Given the description of an element on the screen output the (x, y) to click on. 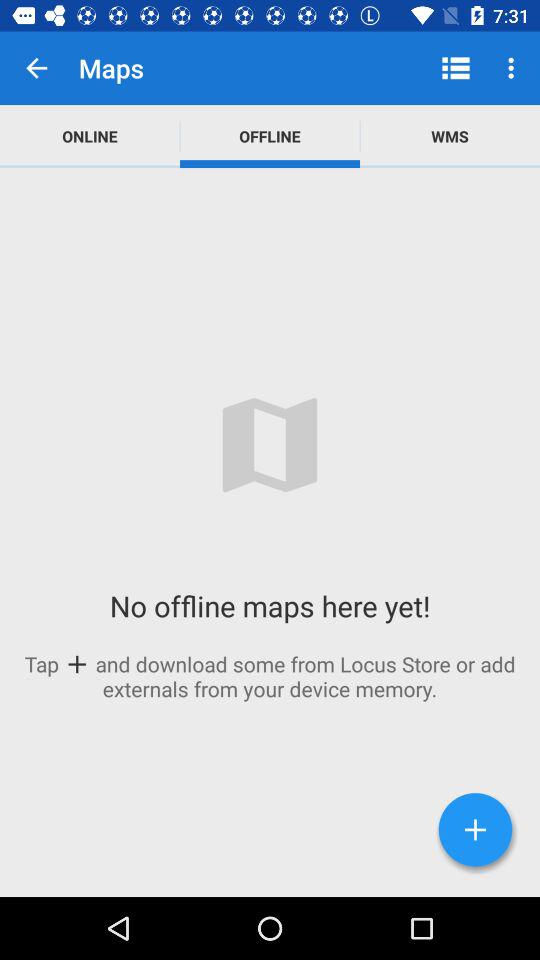
launch app above the online item (36, 68)
